Given the description of an element on the screen output the (x, y) to click on. 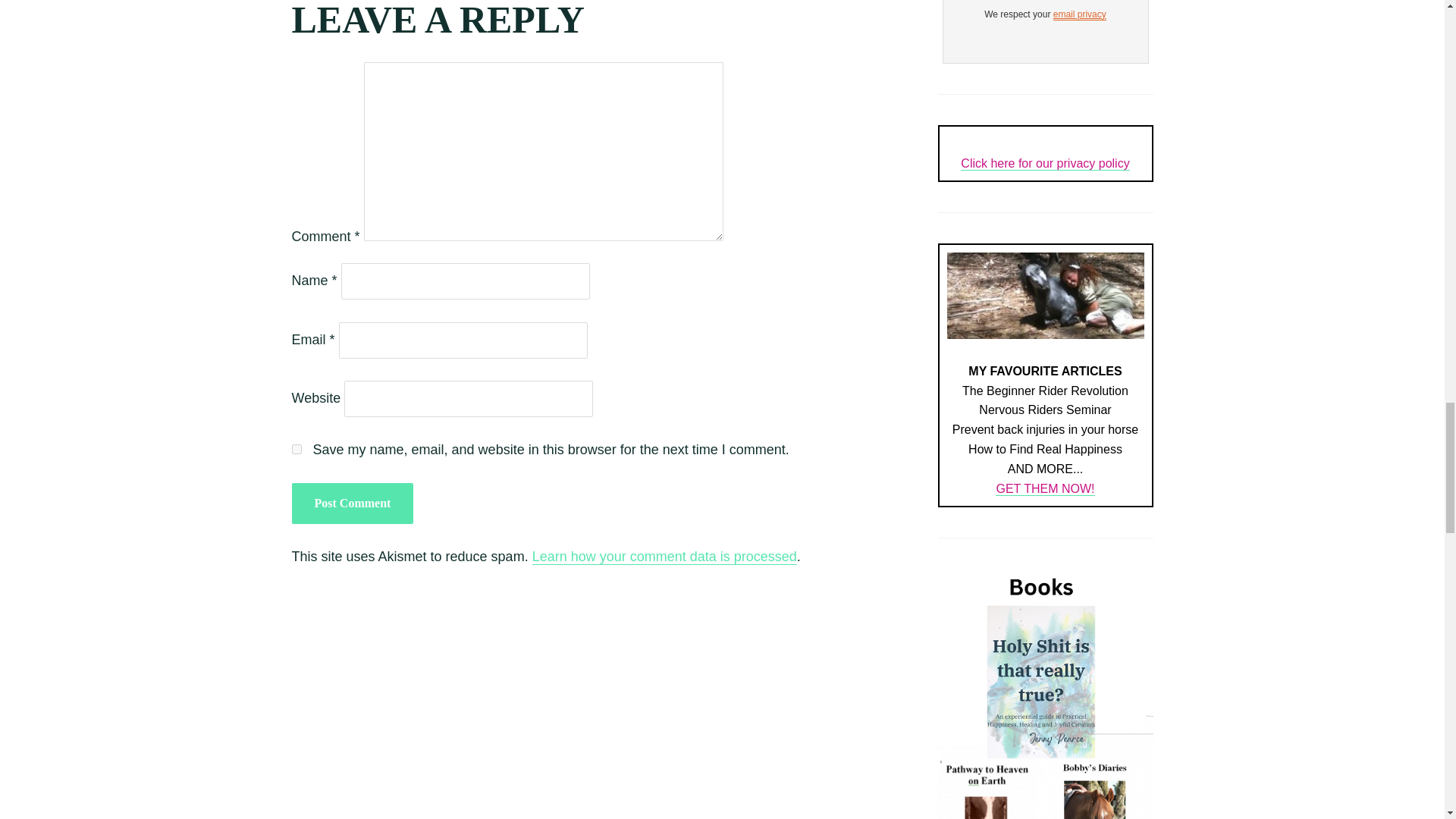
GET THEM NOW! (1044, 498)
Click here for our privacy policy (1044, 173)
Learn how your comment data is processed (664, 556)
yes (296, 449)
Privacy Policy (1079, 14)
Post Comment (352, 503)
Post Comment (352, 503)
email privacy (1079, 14)
